Given the description of an element on the screen output the (x, y) to click on. 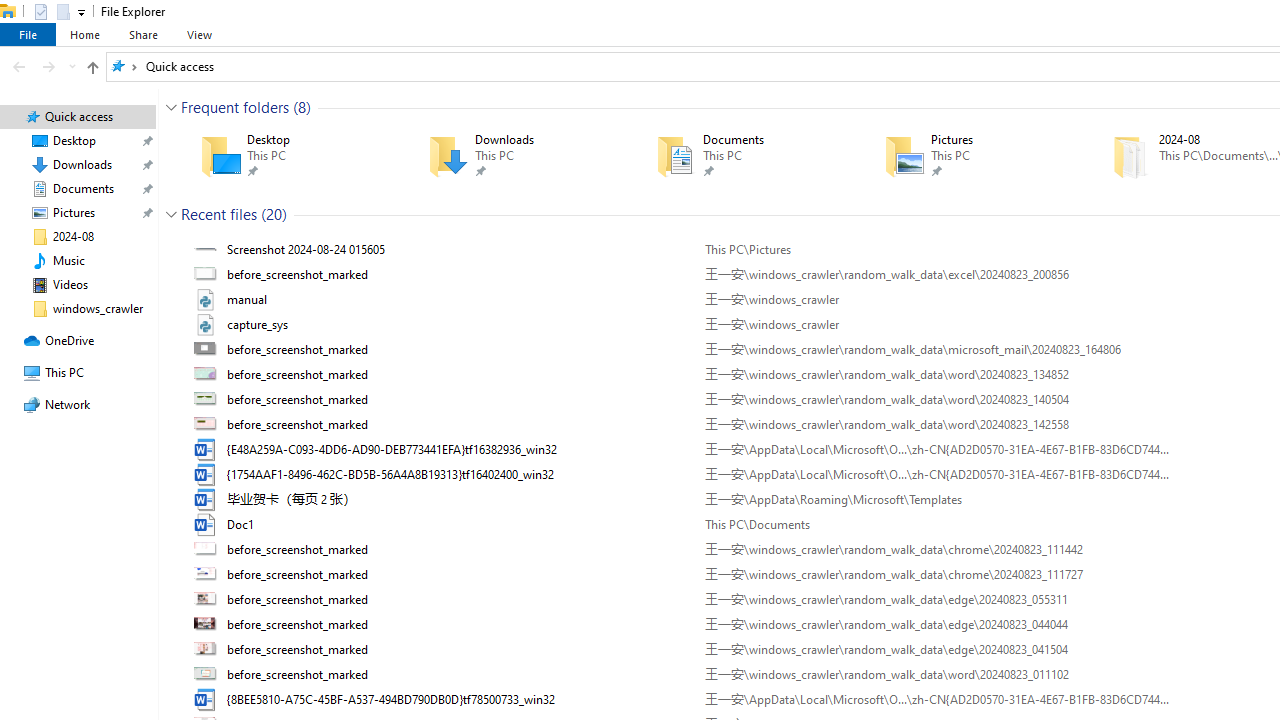
Back (Alt + Left Arrow) (18, 66)
Home (84, 34)
Desktop (286, 156)
Navigation buttons (41, 66)
Pinned (1003, 170)
Recent locations (71, 66)
All locations (124, 65)
View (199, 34)
Name (458, 699)
Pictures (969, 156)
Class: UIImage (207, 699)
